Given the description of an element on the screen output the (x, y) to click on. 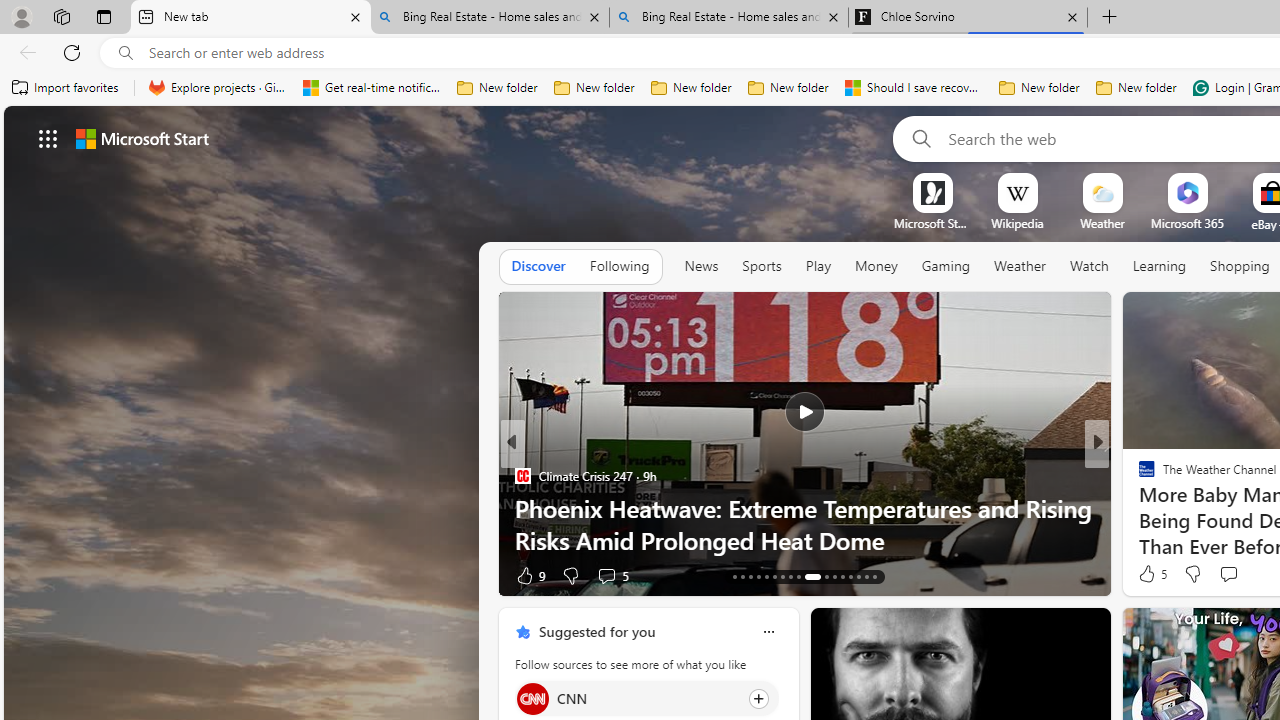
ETNT Mind+Body (1138, 475)
Forge of Empires (559, 507)
AutomationID: tab-40 (857, 576)
View comments 19 Comment (1244, 574)
App launcher (47, 138)
Wikipedia (1017, 223)
AutomationID: tab-14 (742, 576)
AutomationID: tab-18 (774, 576)
View comments 6 Comment (1241, 574)
